Given the description of an element on the screen output the (x, y) to click on. 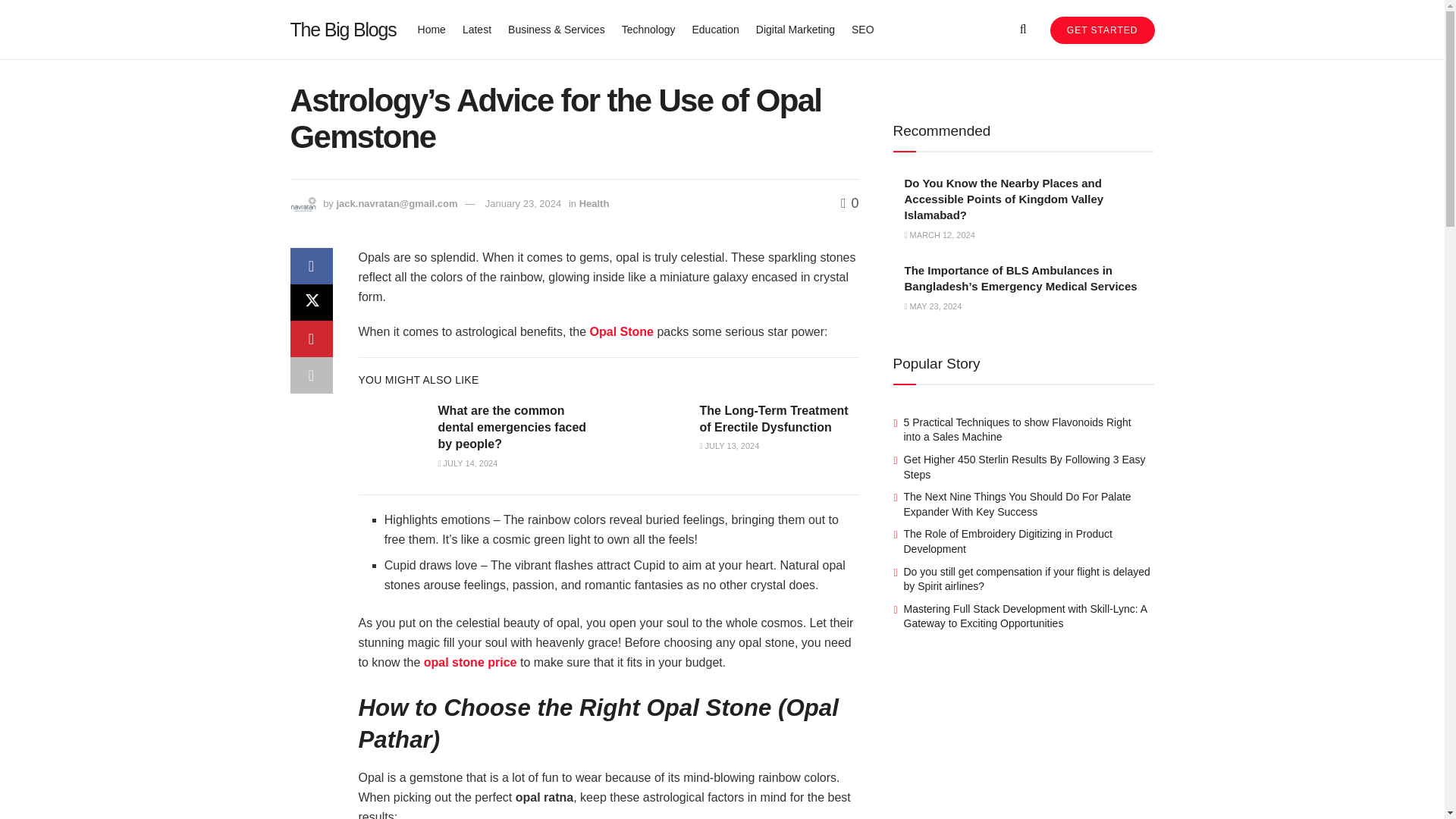
Health (594, 203)
GET STARTED (1101, 30)
SEO (863, 29)
Opal Stone (621, 331)
The Big Blogs (342, 28)
0 (850, 202)
Latest (477, 29)
Education (714, 29)
Technology (648, 29)
Digital Marketing (794, 29)
